Given the description of an element on the screen output the (x, y) to click on. 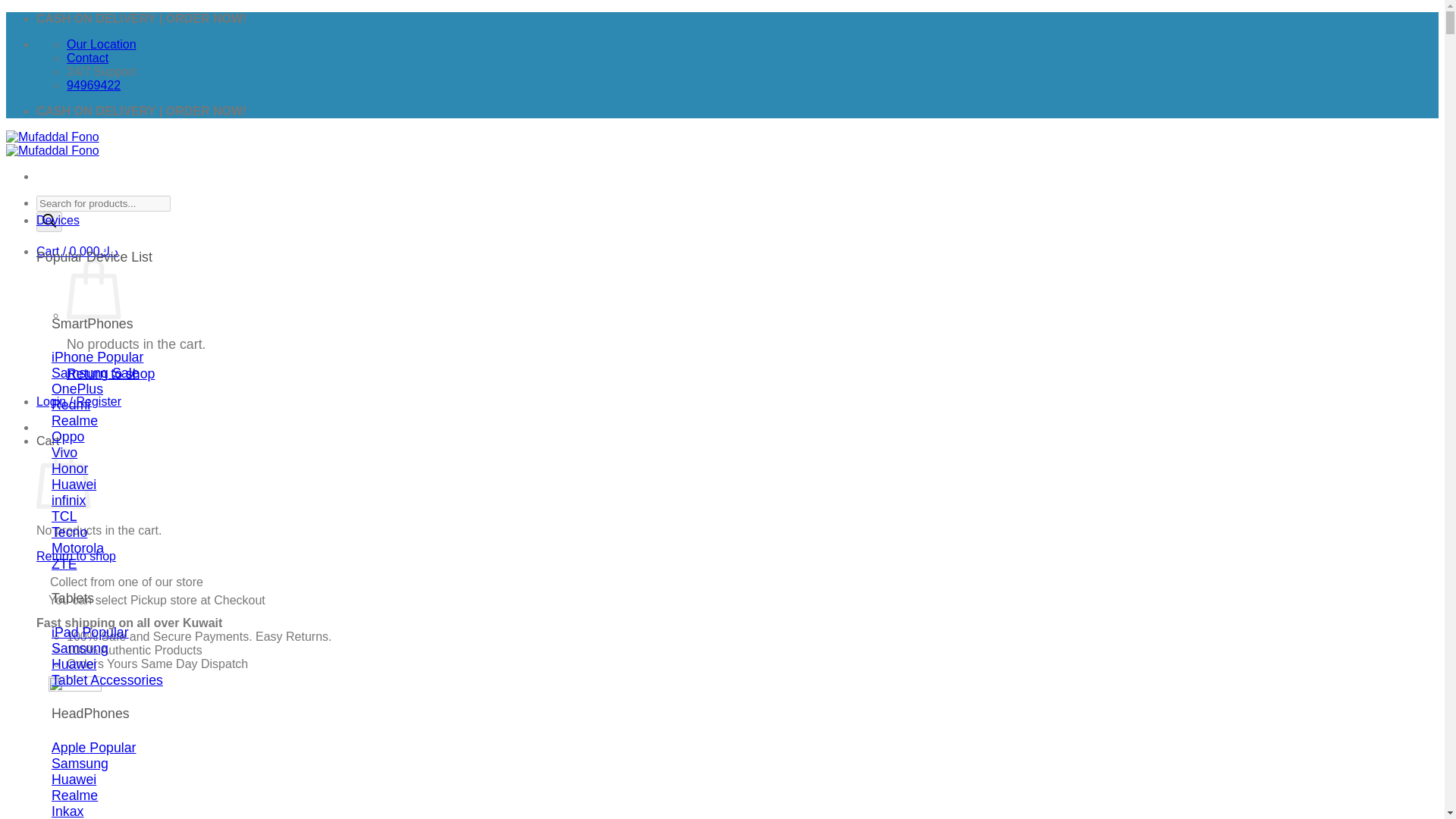
Samsung (78, 763)
Return to shop (76, 555)
Tecno (68, 531)
OnePlus (76, 388)
TCL (63, 516)
Realme (73, 420)
Login (78, 400)
infinix (67, 500)
ZTE (63, 563)
Contact (86, 57)
Realme (73, 795)
Return to shop (110, 372)
Tablet Accessories (106, 679)
Our Location (101, 43)
Huawei (73, 484)
